Given the description of an element on the screen output the (x, y) to click on. 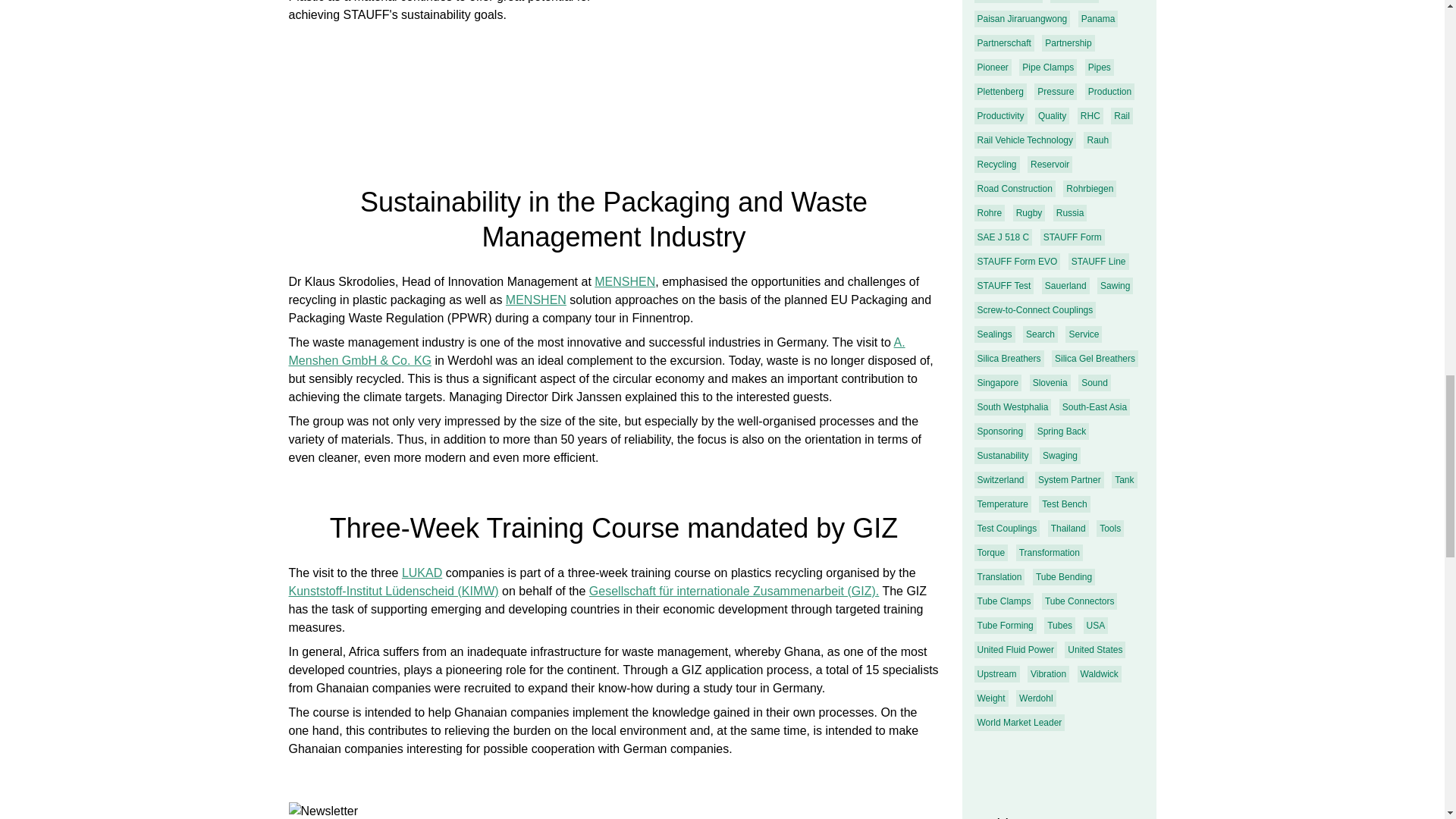
MENSHEN (535, 299)
MENSHEN (624, 281)
